Given the description of an element on the screen output the (x, y) to click on. 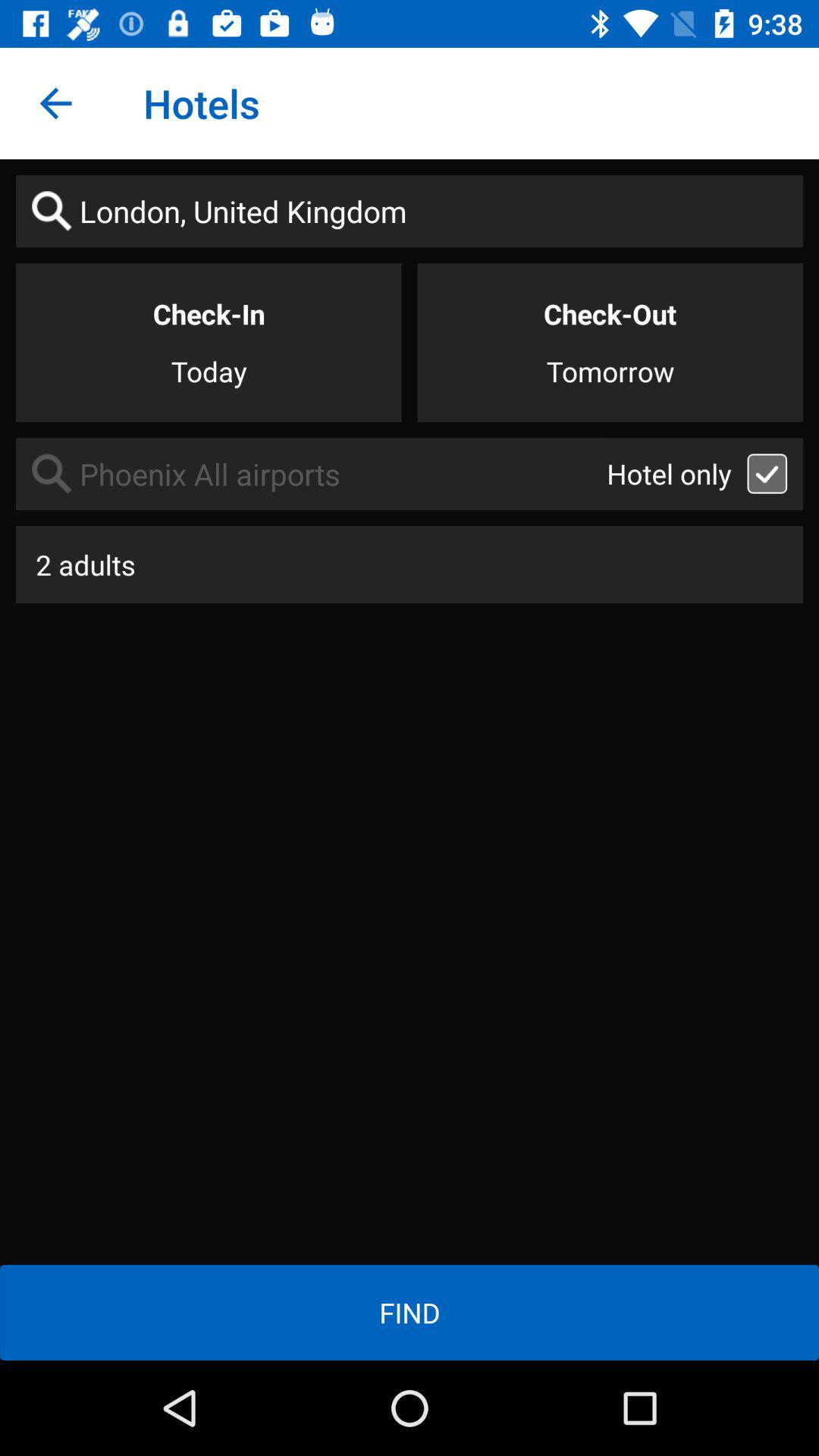
flip to the london, united kingdom item (409, 211)
